Given the description of an element on the screen output the (x, y) to click on. 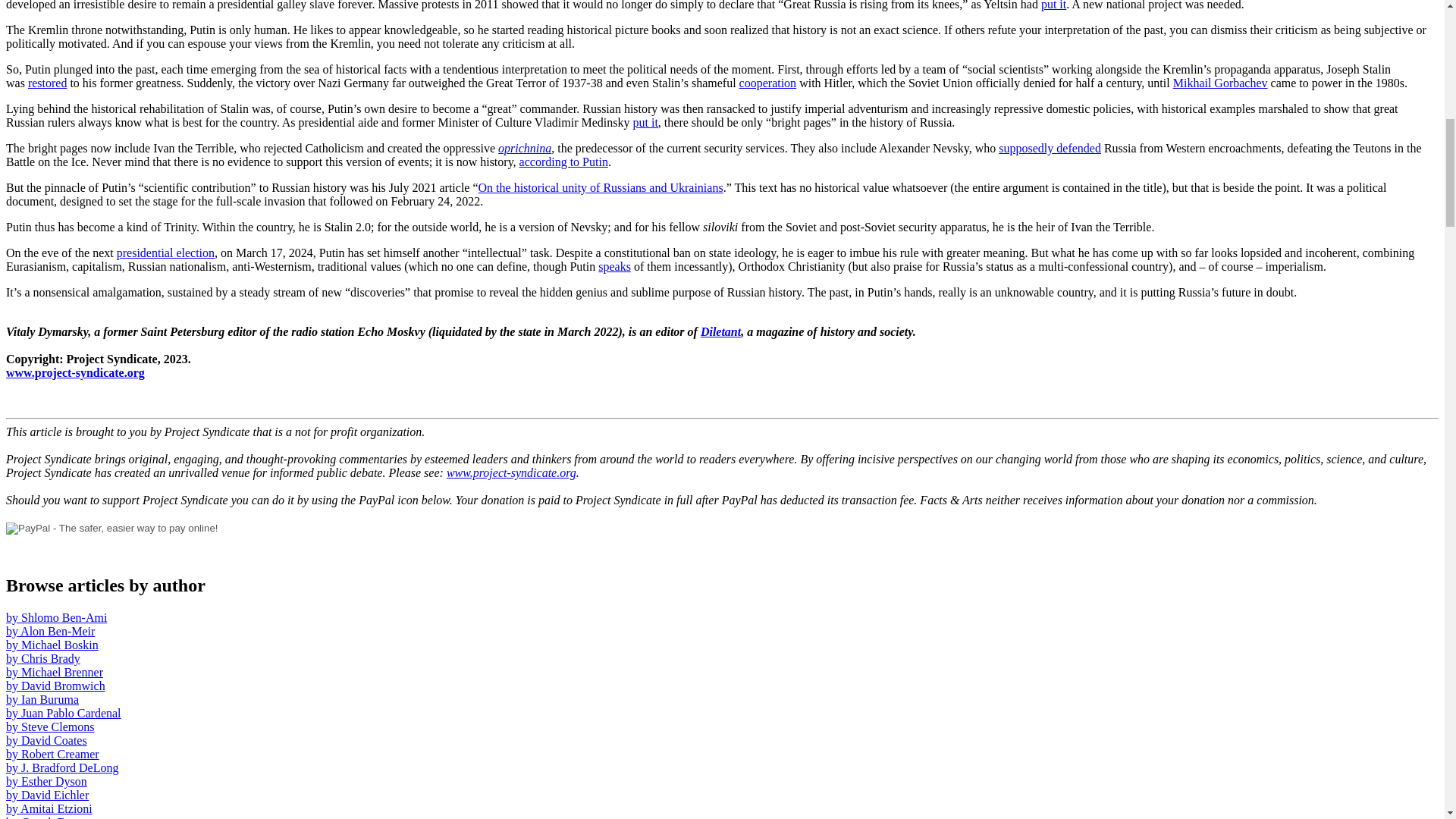
put it (1053, 5)
cooperation (767, 82)
Diletant (720, 331)
presidential election (165, 252)
by Alon Ben-Meir (49, 631)
Mikhail Gorbachev (1220, 82)
by Shlomo Ben-Ami (55, 617)
www.project-syndicate.org (511, 472)
On the historical unity of Russians and Ukrainians (601, 187)
supposedly defended (1049, 147)
oprichnina (524, 147)
put it (645, 122)
according to Putin (563, 161)
restored (46, 82)
www.project-syndicate.org (74, 372)
